Given the description of an element on the screen output the (x, y) to click on. 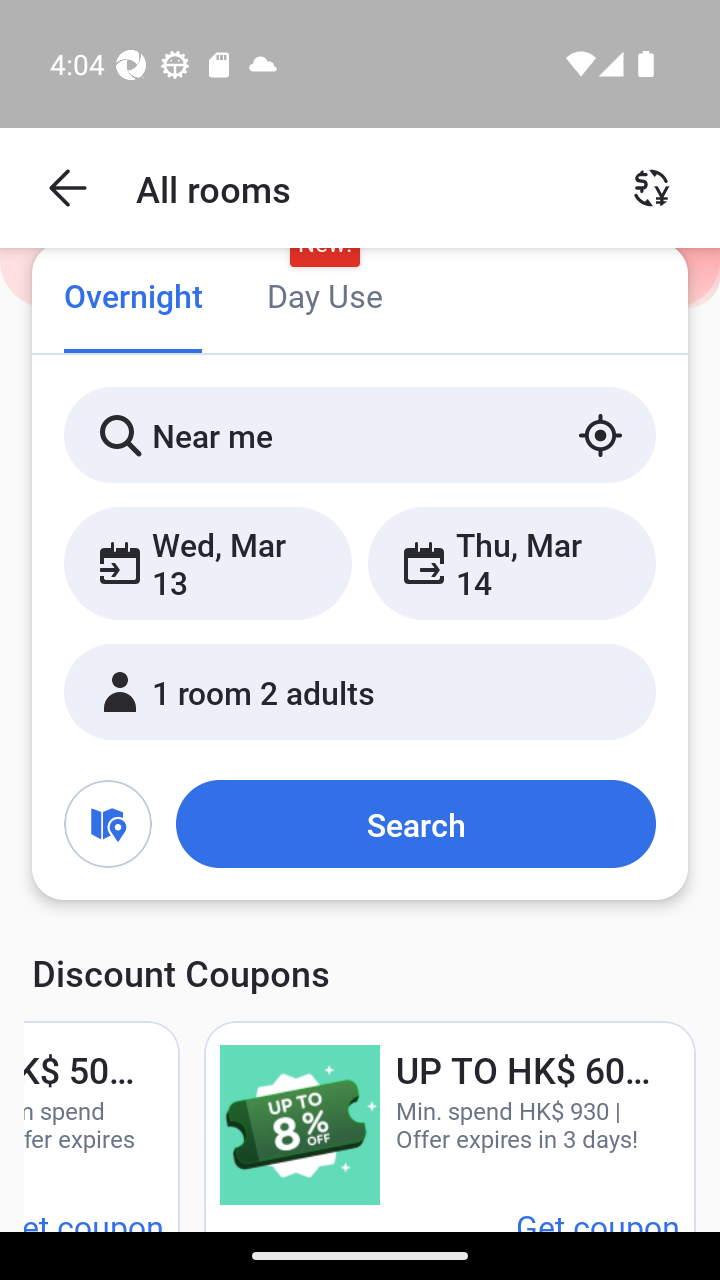
Day Use (324, 298)
Near me (359, 434)
Wed, Mar 13 (208, 562)
Thu, Mar 14 (511, 562)
1 room 2 adults (359, 691)
Search (415, 823)
